Given the description of an element on the screen output the (x, y) to click on. 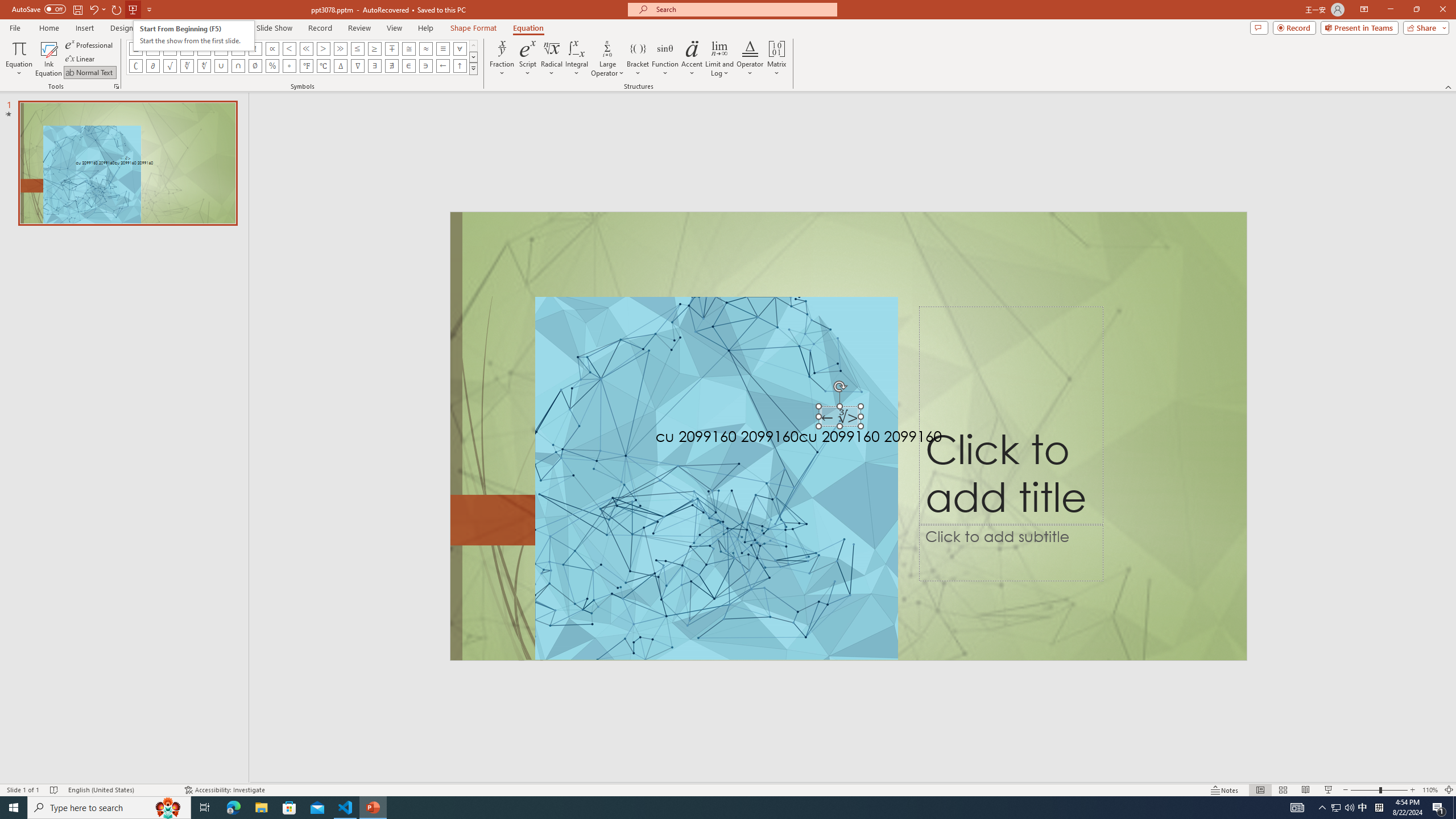
Equation Symbol Greater Than (322, 48)
Equation Symbol Minus Plus (391, 48)
Equation Symbol Degrees (289, 65)
Equation Symbol Empty Set (255, 65)
Professional (90, 44)
Linear (81, 58)
Equation Symbol Infinity (152, 48)
